Given the description of an element on the screen output the (x, y) to click on. 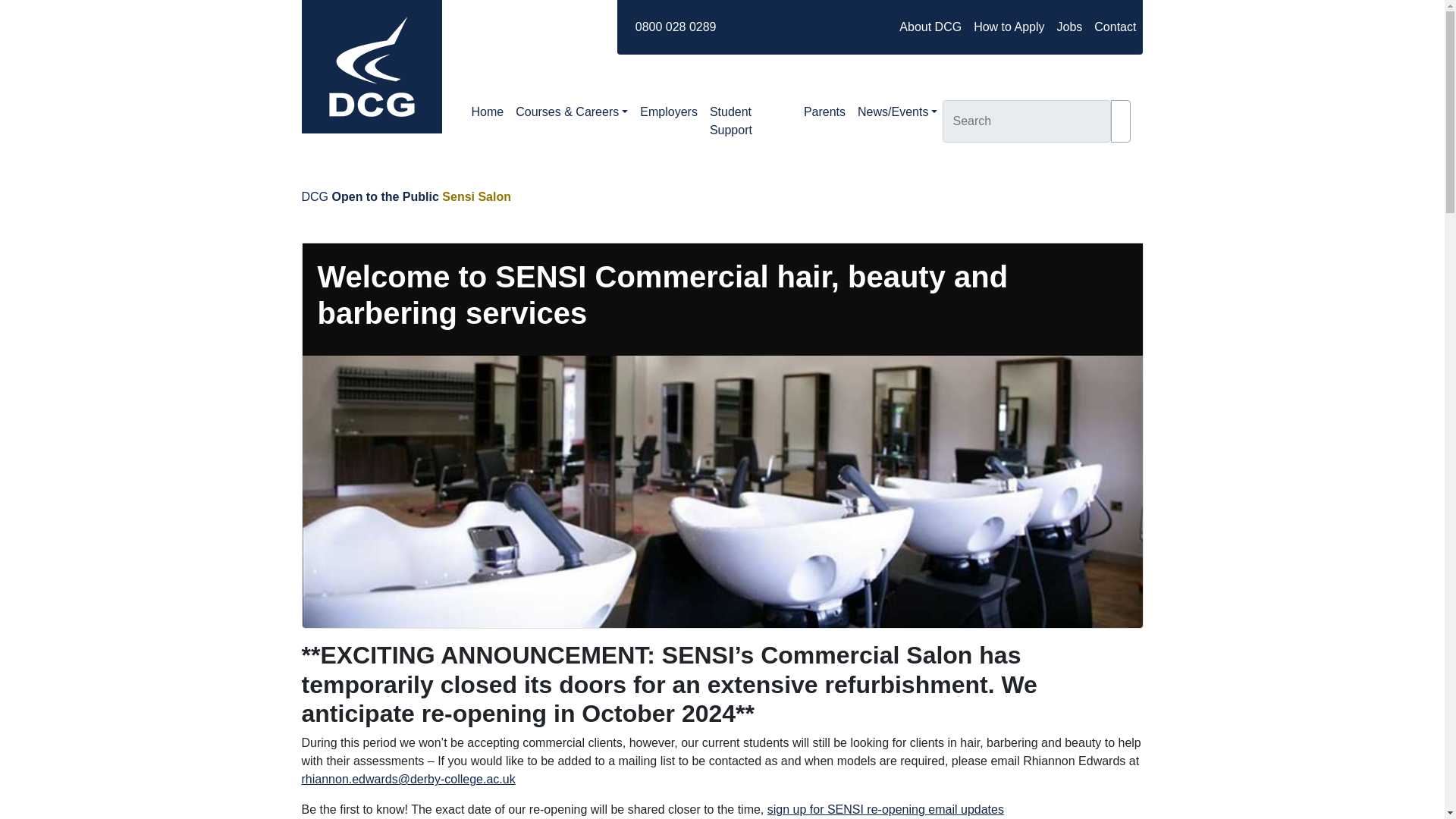
sign up for SENSI re-opening email updates (885, 809)
About DCG (929, 26)
Student Support (750, 121)
Parents (824, 112)
Open to the Public (385, 196)
Employers (668, 112)
How to Apply (1008, 26)
Contact (1114, 26)
Jobs (1070, 26)
DCG (315, 196)
Home (488, 112)
